Given the description of an element on the screen output the (x, y) to click on. 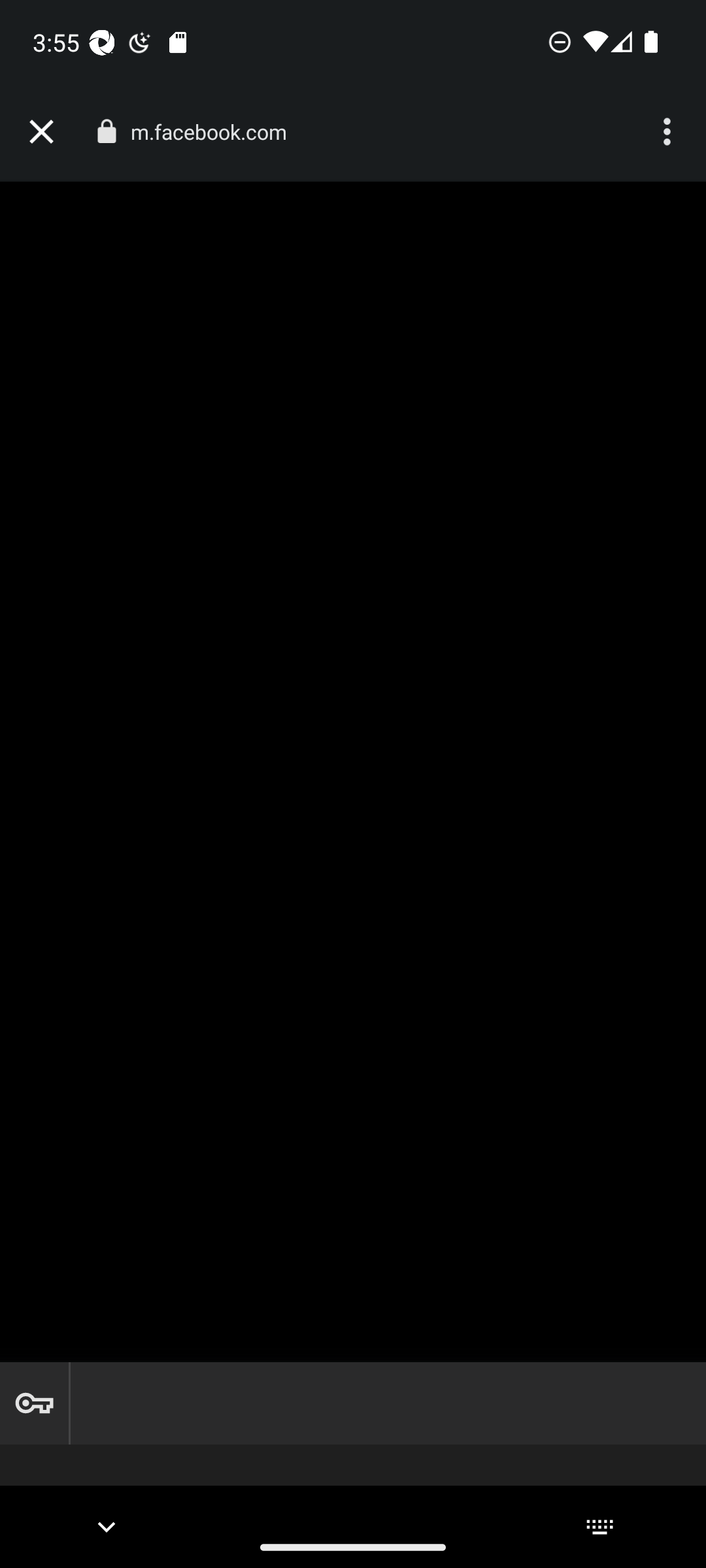
Close tab (41, 131)
More options (669, 131)
Connection is secure (106, 131)
m.facebook.com (215, 131)
Show passwords (34, 1403)
